Given the description of an element on the screen output the (x, y) to click on. 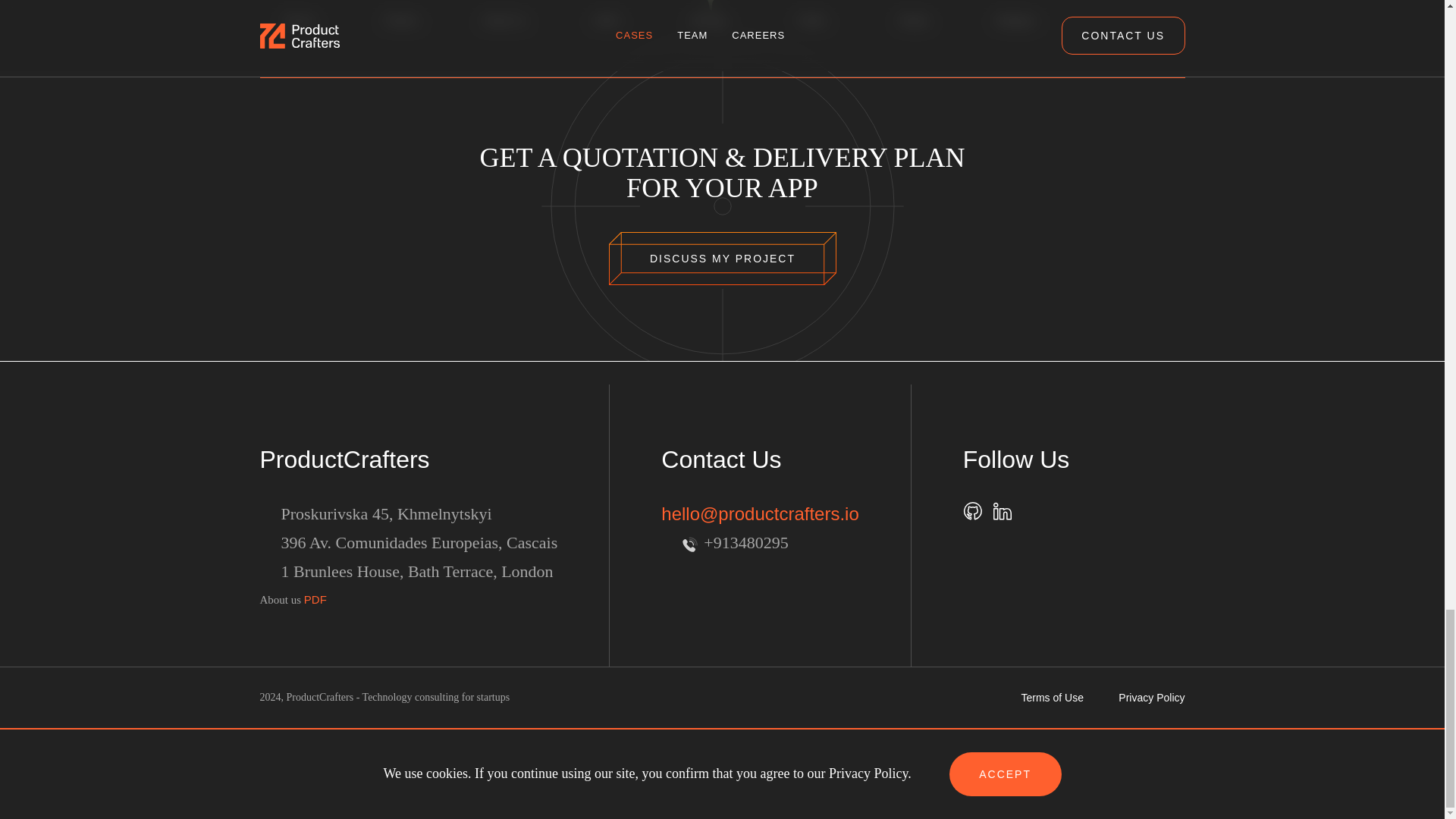
PDF (315, 599)
Terms of Use (1051, 697)
Privacy Policy (1151, 697)
DISCUSS MY PROJECT (721, 258)
